Given the description of an element on the screen output the (x, y) to click on. 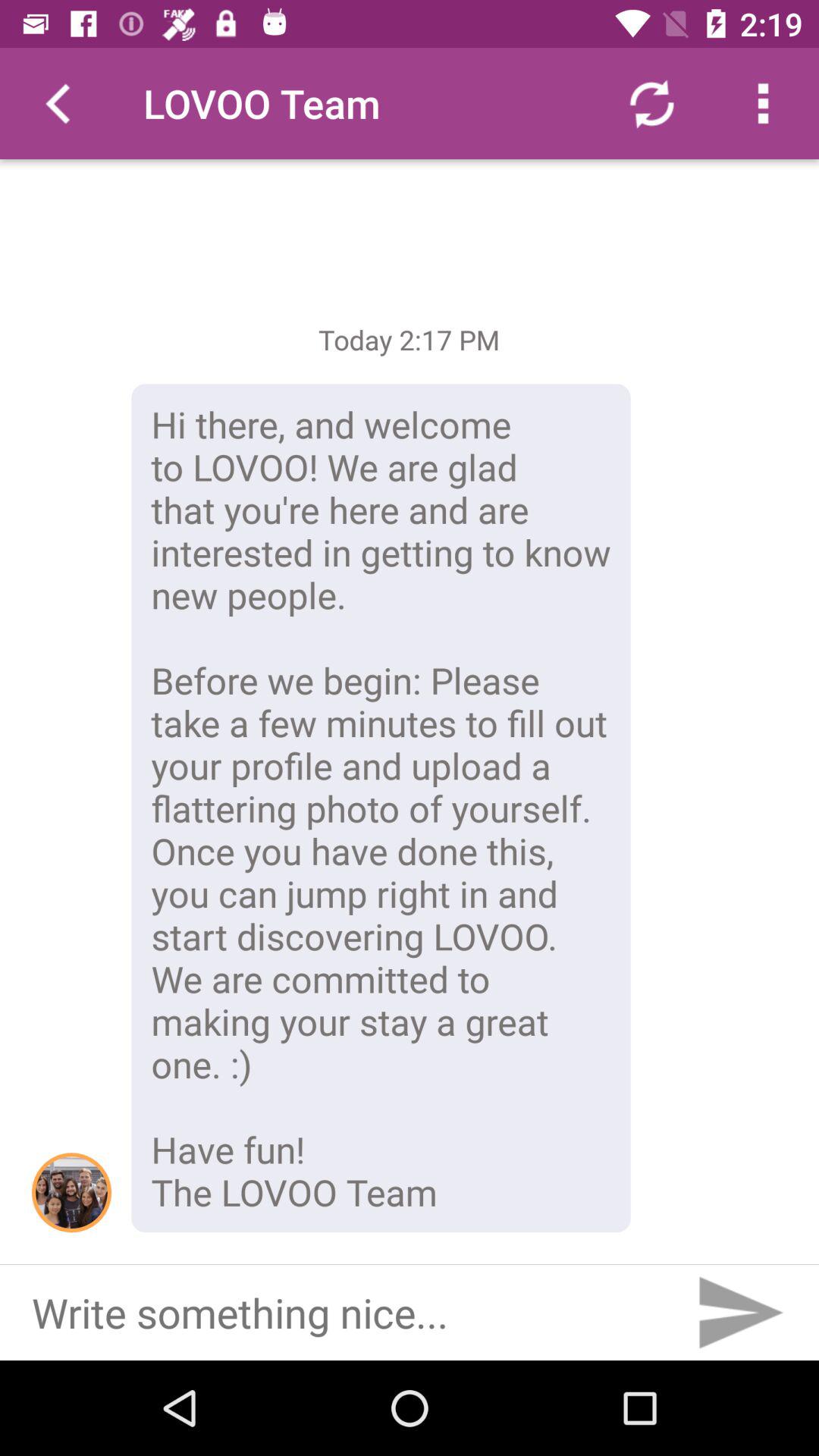
write the the message (340, 1312)
